Given the description of an element on the screen output the (x, y) to click on. 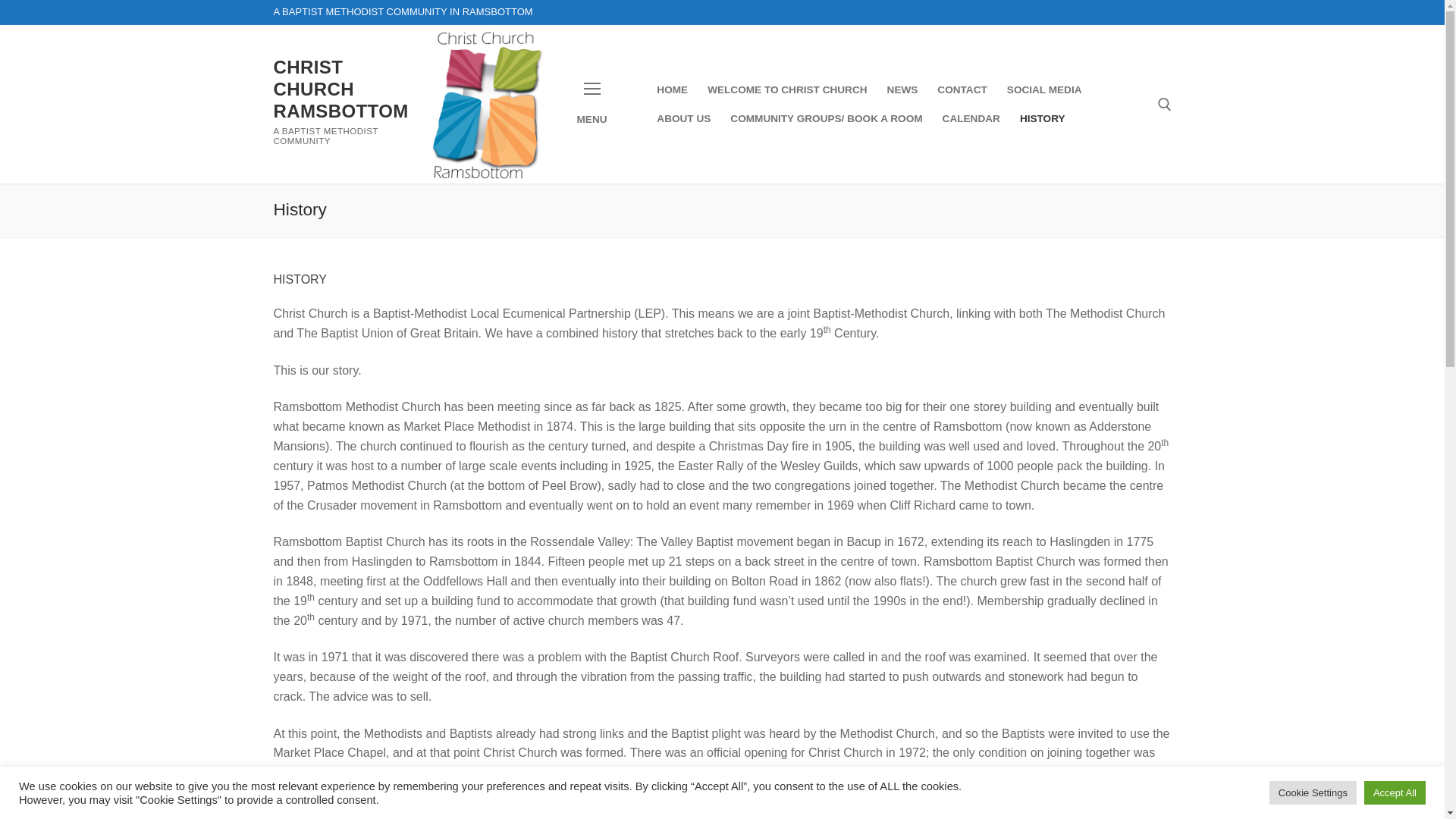
CHRIST CHURCH RAMSBOTTOM (340, 89)
NEWS (902, 90)
Cookie Settings (1312, 792)
MENU (591, 104)
Accept All (1394, 792)
WELCOME TO CHRIST CHURCH (786, 90)
CONTACT (961, 90)
CALENDAR (971, 118)
ABOUT US (683, 118)
SOCIAL MEDIA (1044, 90)
